Given the description of an element on the screen output the (x, y) to click on. 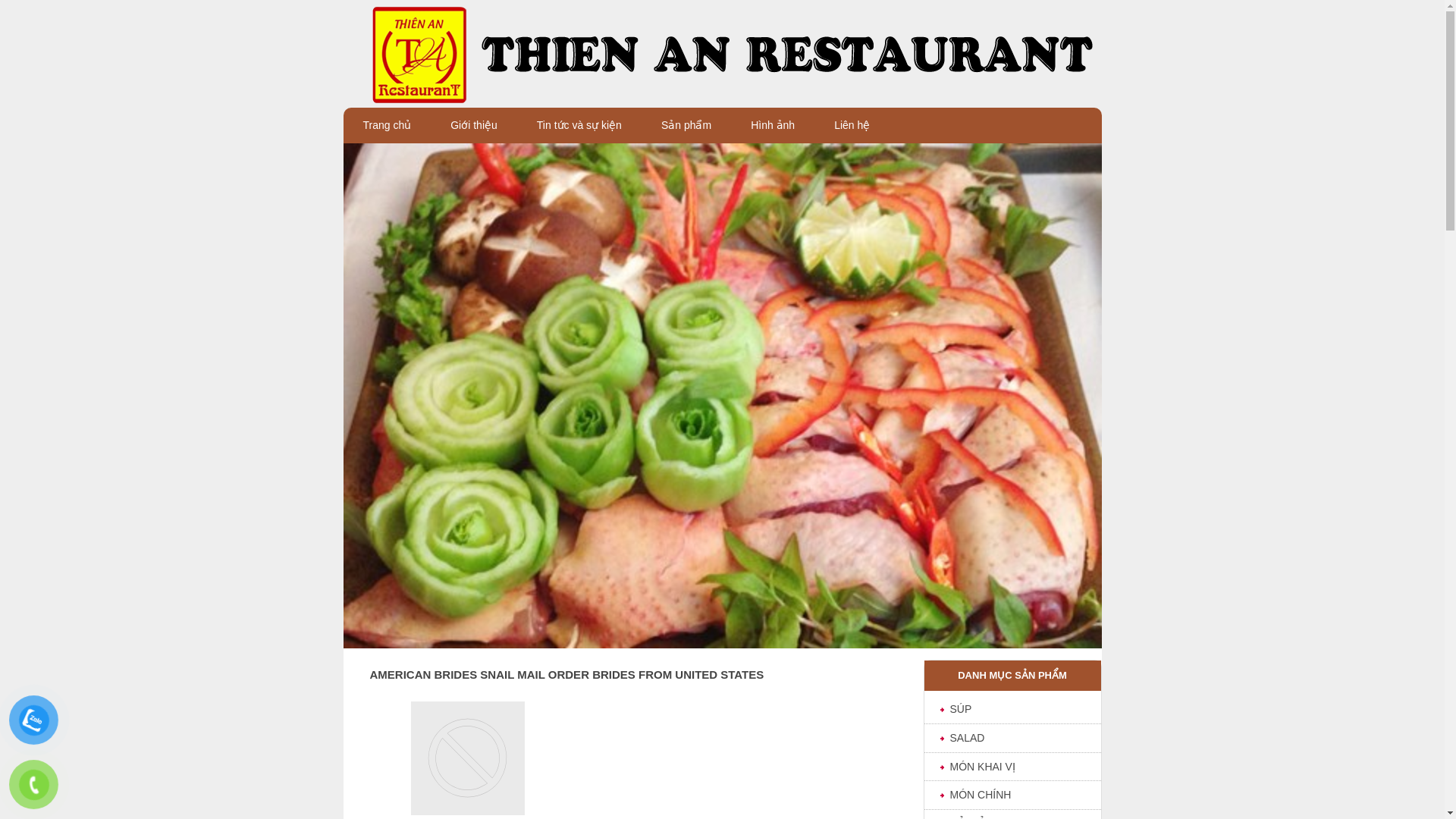
Thien An Restaurant (721, 53)
